Given the description of an element on the screen output the (x, y) to click on. 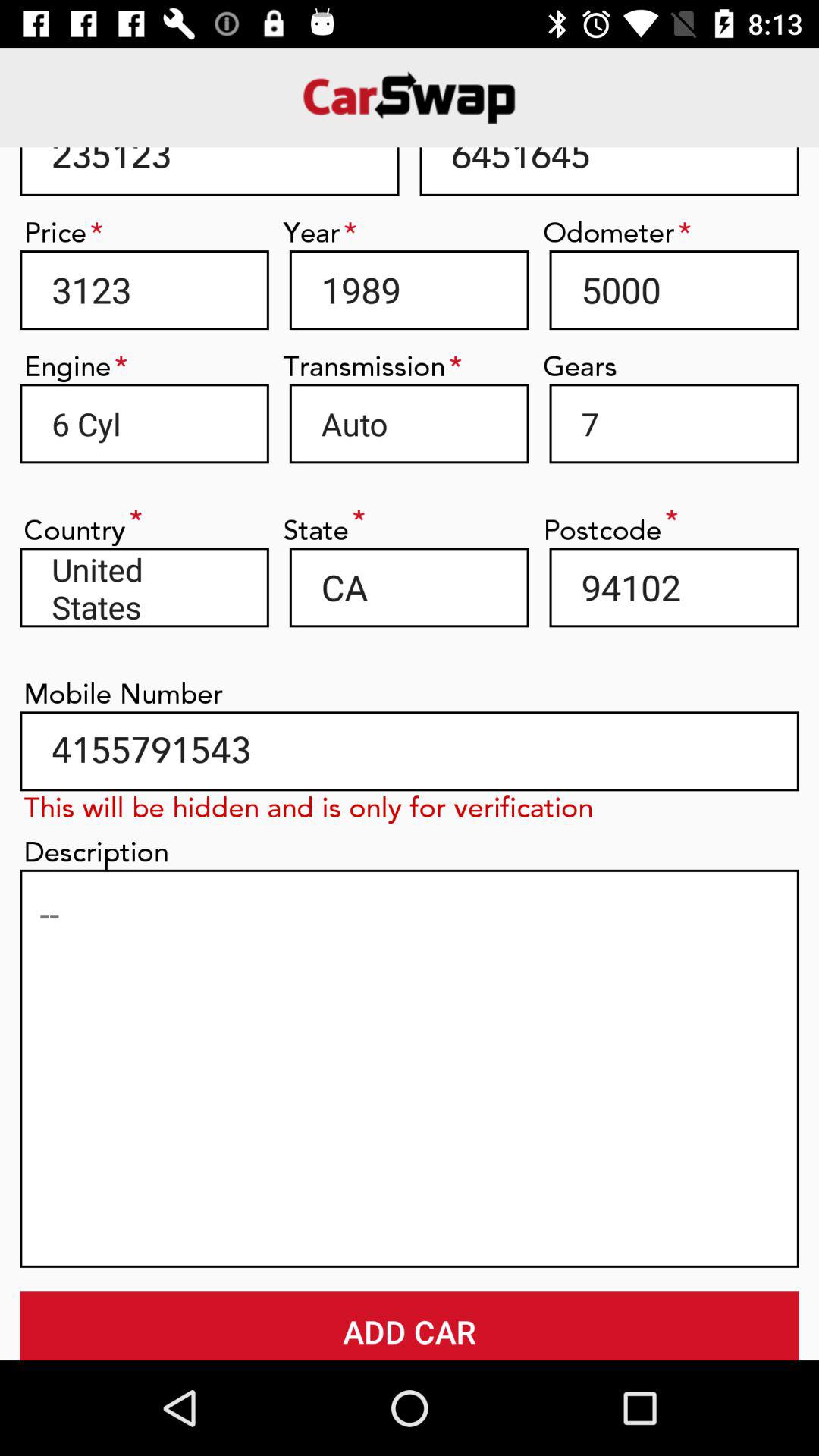
type in description (409, 1068)
